Given the description of an element on the screen output the (x, y) to click on. 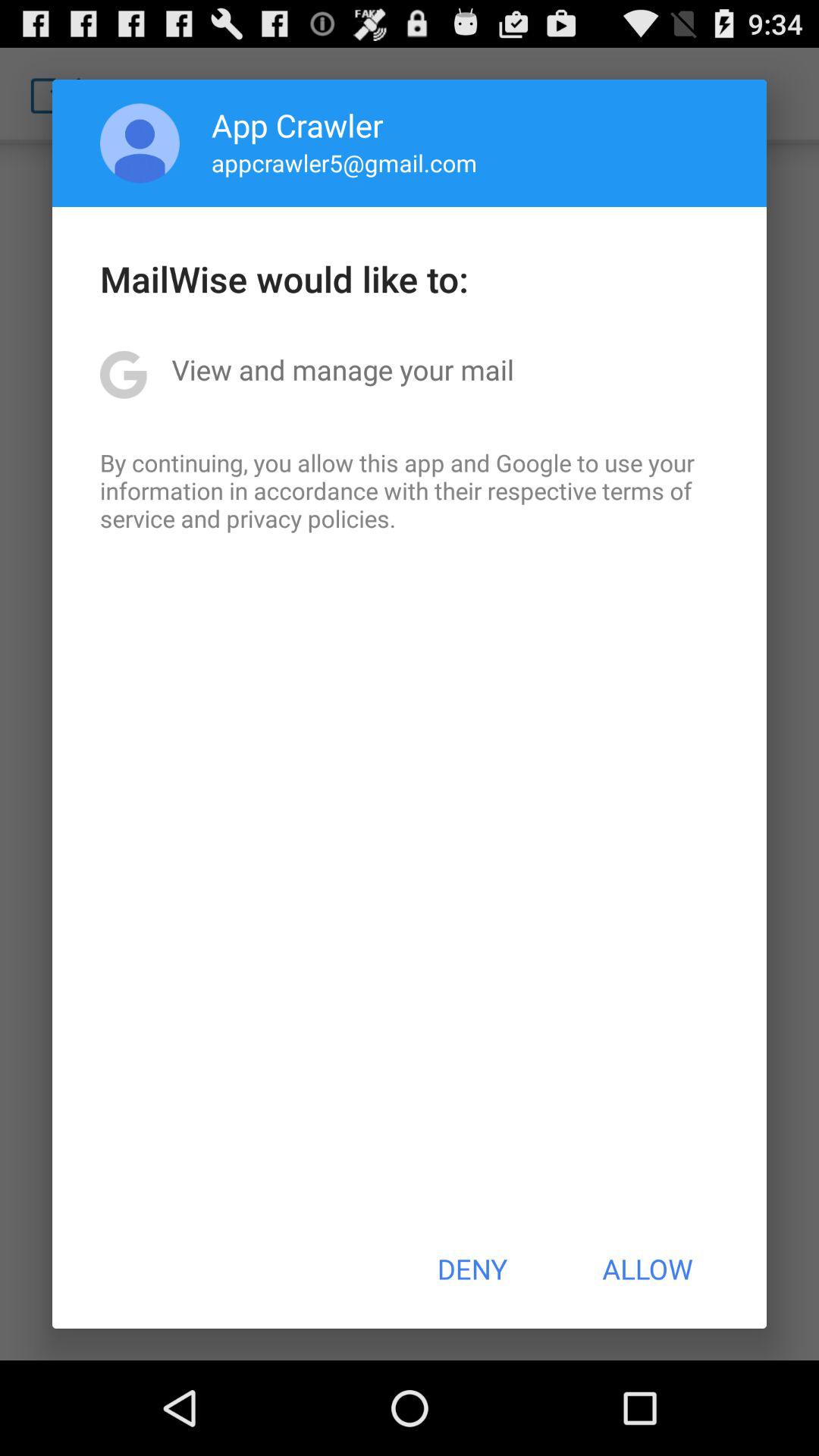
click the view and manage (342, 369)
